Given the description of an element on the screen output the (x, y) to click on. 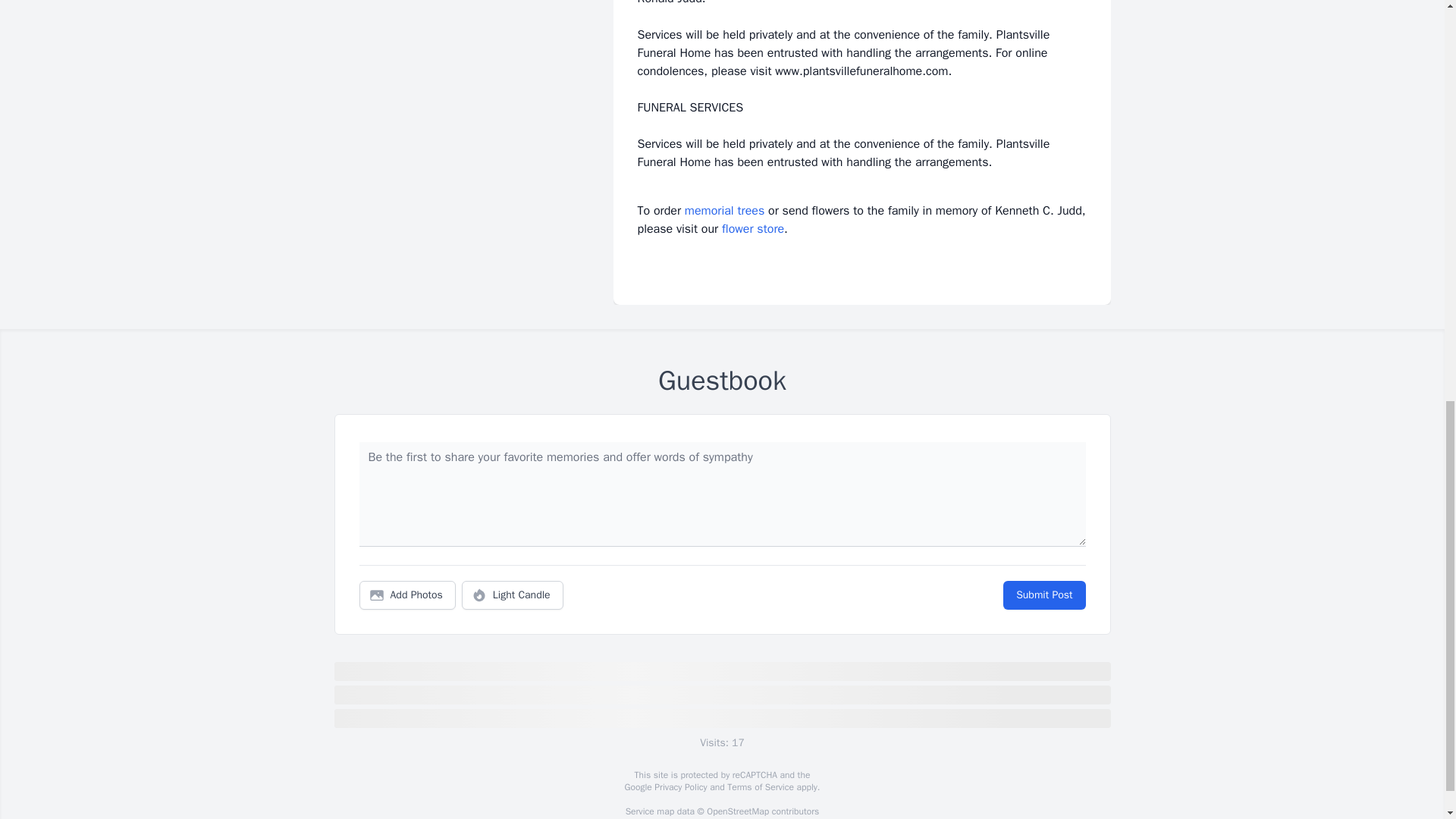
Submit Post (1043, 594)
Add Photos (407, 594)
flower store (753, 228)
Terms of Service (759, 787)
memorial trees (724, 210)
OpenStreetMap (737, 811)
Privacy Policy (679, 787)
Light Candle (512, 594)
